Given the description of an element on the screen output the (x, y) to click on. 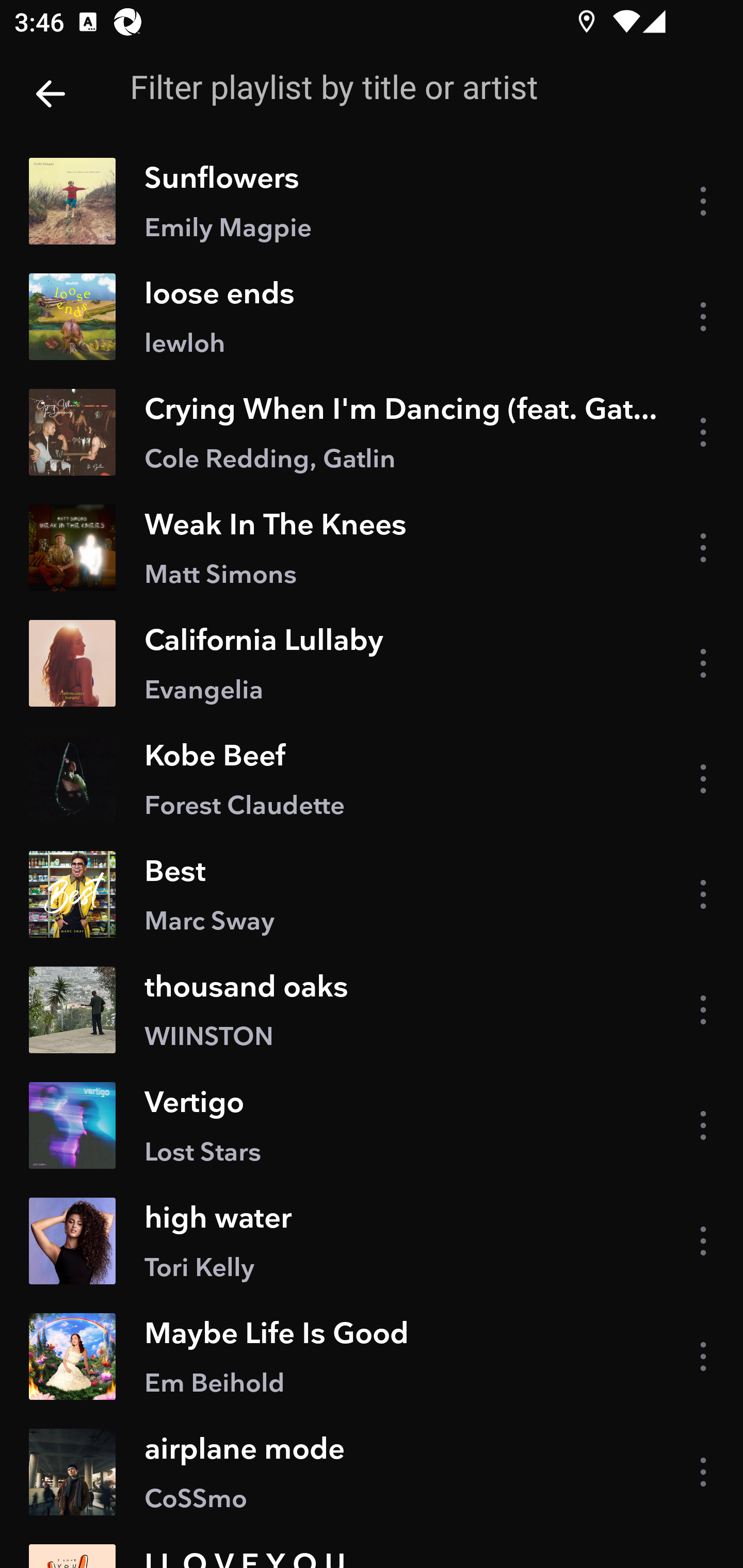
Filter playlist by title or artist (407, 87)
Sunflowers Emily Magpie (371, 201)
loose ends lewloh (371, 316)
Weak In The Knees Matt Simons (371, 547)
California Lullaby Evangelia (371, 663)
Kobe Beef Forest Claudette (371, 779)
Best Marc Sway (371, 894)
thousand oaks WIINSTON (371, 1009)
Vertigo Lost Stars (371, 1125)
high water Tori Kelly (371, 1240)
Maybe Life Is Good Em Beihold (371, 1356)
airplane mode CoSSmo (371, 1472)
